Given the description of an element on the screen output the (x, y) to click on. 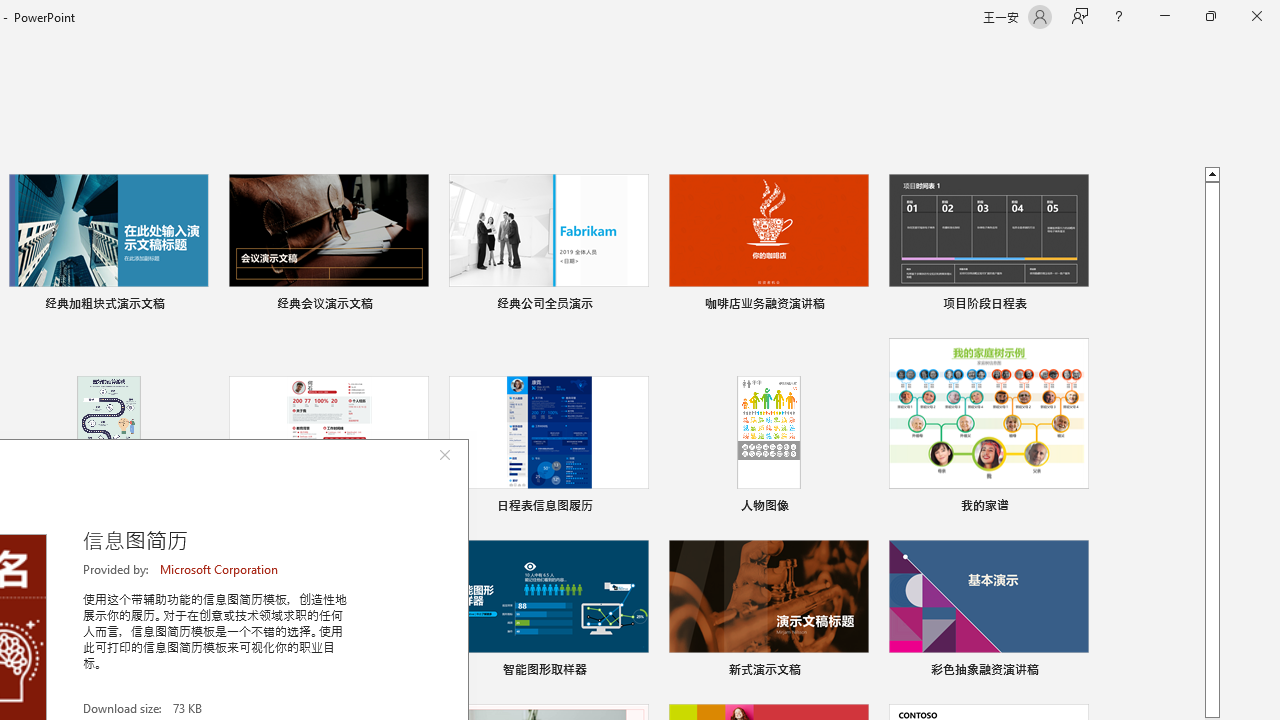
Pin to list (1075, 671)
Microsoft Corporation (220, 569)
